Given the description of an element on the screen output the (x, y) to click on. 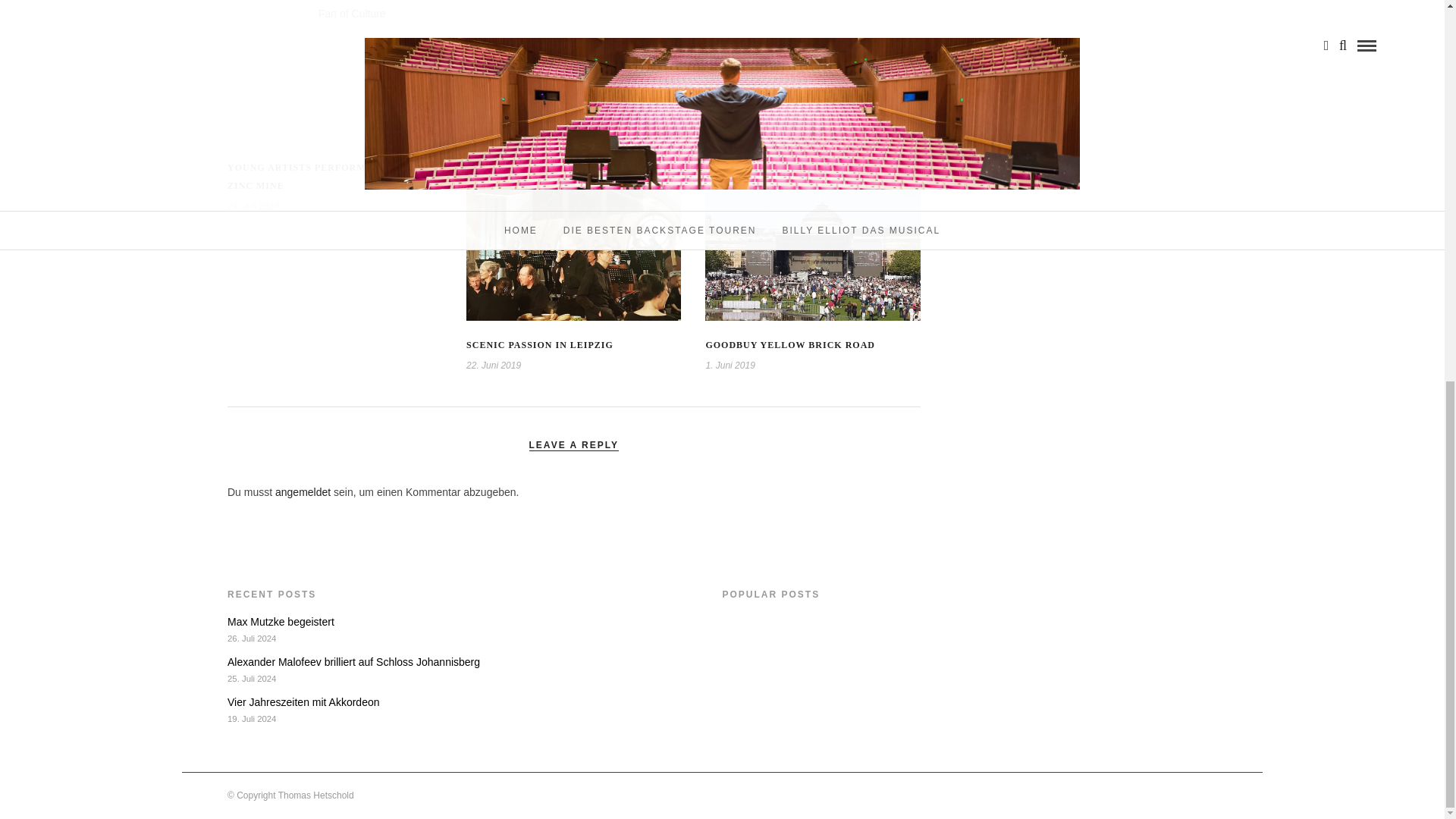
Goodbuy yellow brick road (789, 344)
Alexander Malofeev brilliert auf Schloss Johannisberg (353, 662)
Max Mutzke begeistert (280, 621)
YOUNG ARTISTS PERFORM IN AN OLD ZINC MINE (325, 176)
GOODBUY YELLOW BRICK ROAD (789, 344)
Scenic Passion in Leipzig (538, 344)
SCENIC PASSION IN LEIPZIG (538, 344)
Young Artists perform in an old Zinc Mine (325, 176)
angemeldet (302, 491)
